Given the description of an element on the screen output the (x, y) to click on. 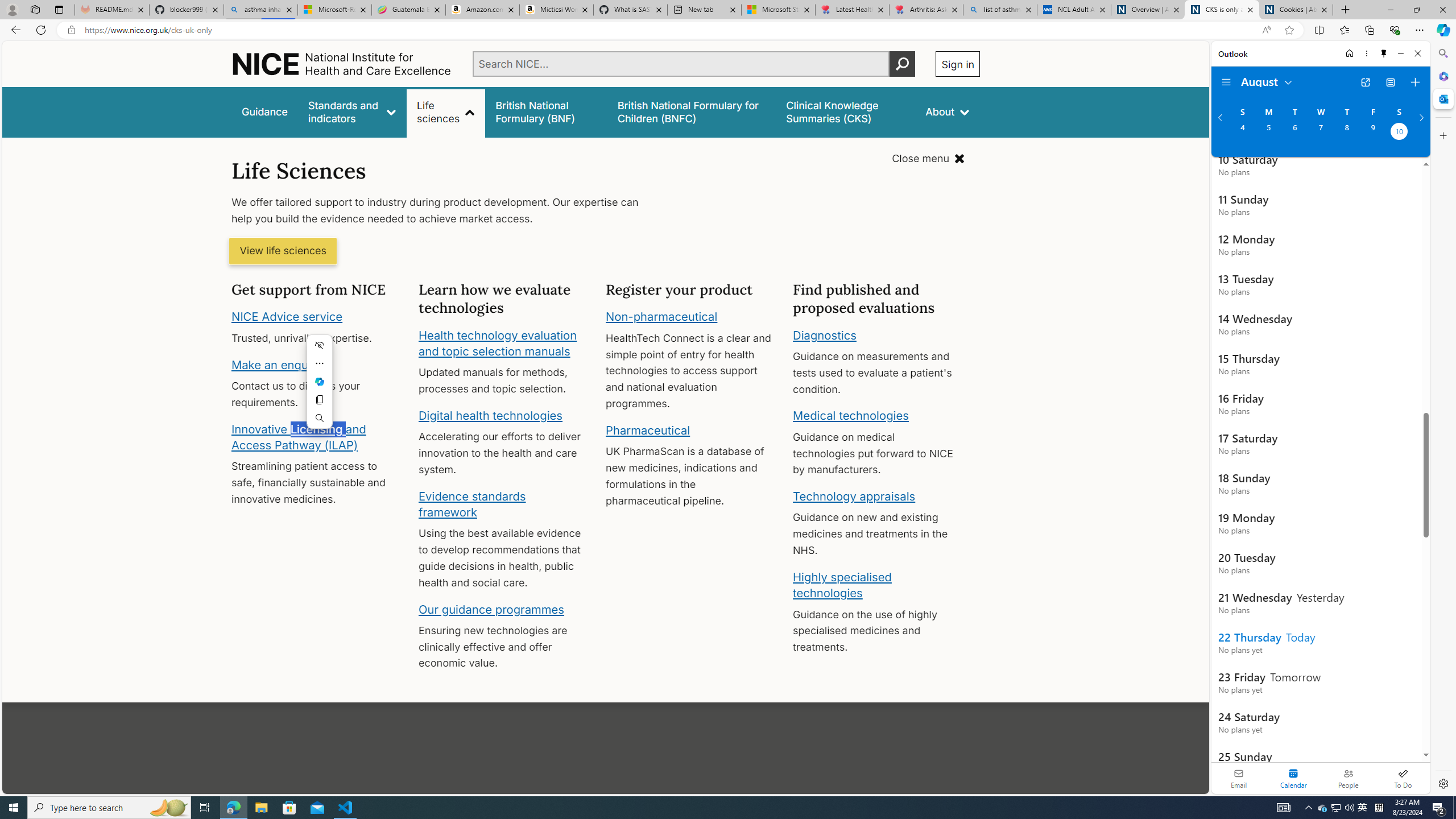
Saturday, August 10, 2024. Date selected.  (1399, 132)
Cookies | About | NICE (1295, 9)
British National Formulary for Children (BNFC) (691, 111)
Innovative Licensing and Access Pathway (ILAP) (298, 436)
Digital health technologies (490, 414)
Monday, August 5, 2024.  (1268, 132)
View Switcher. Current view is Agenda view (1390, 82)
Health technology evaluation and topic selection manuals (496, 342)
NICE Advice service (287, 316)
Technology appraisals (854, 495)
